Given the description of an element on the screen output the (x, y) to click on. 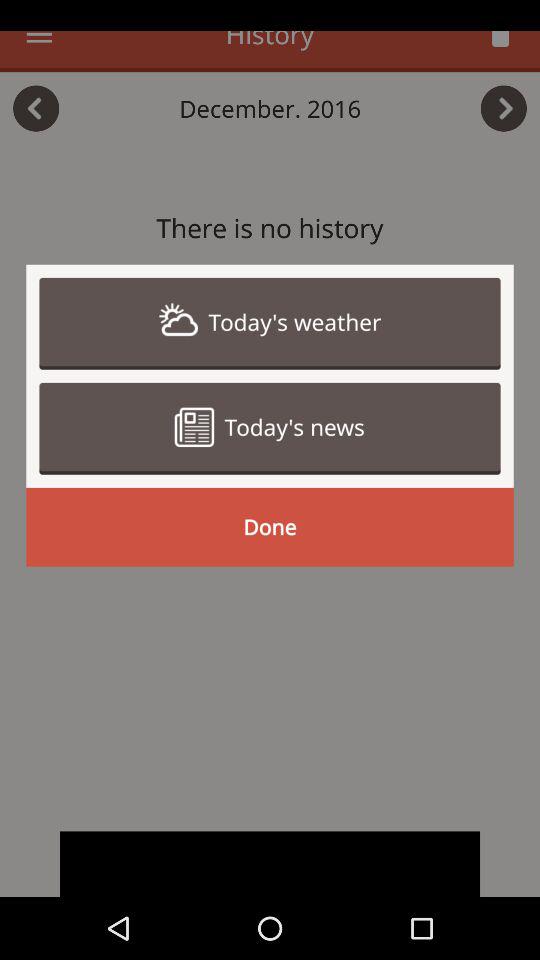
turn on the item at the bottom (270, 863)
